Given the description of an element on the screen output the (x, y) to click on. 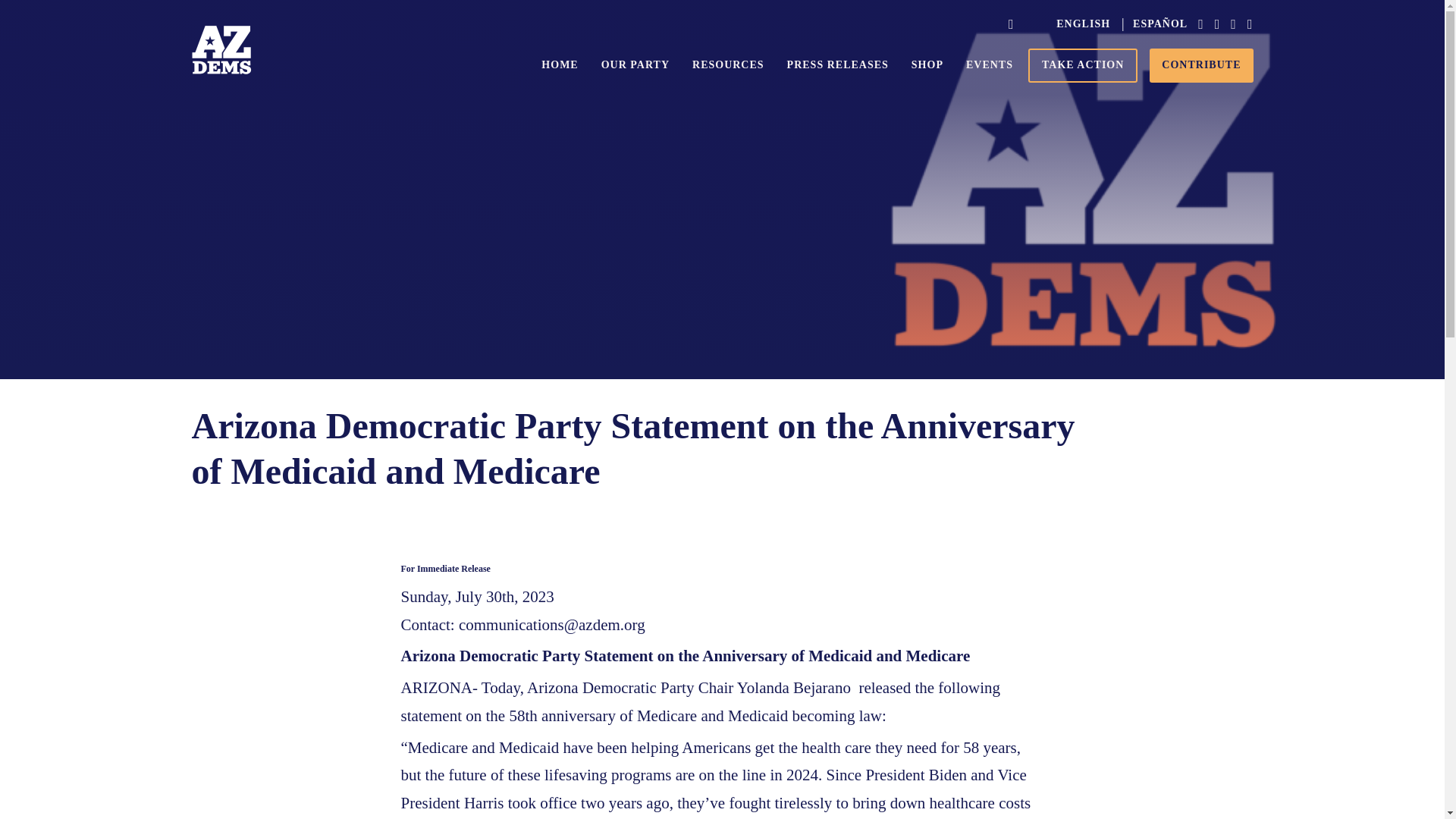
RESOURCES (728, 64)
ENGLISH (1083, 23)
EVENTS (989, 64)
HOME (559, 64)
TAKE ACTION (1082, 64)
SHOP (927, 64)
CONTRIBUTE (1201, 64)
PRESS RELEASES (837, 64)
OUR PARTY (635, 64)
